Given the description of an element on the screen output the (x, y) to click on. 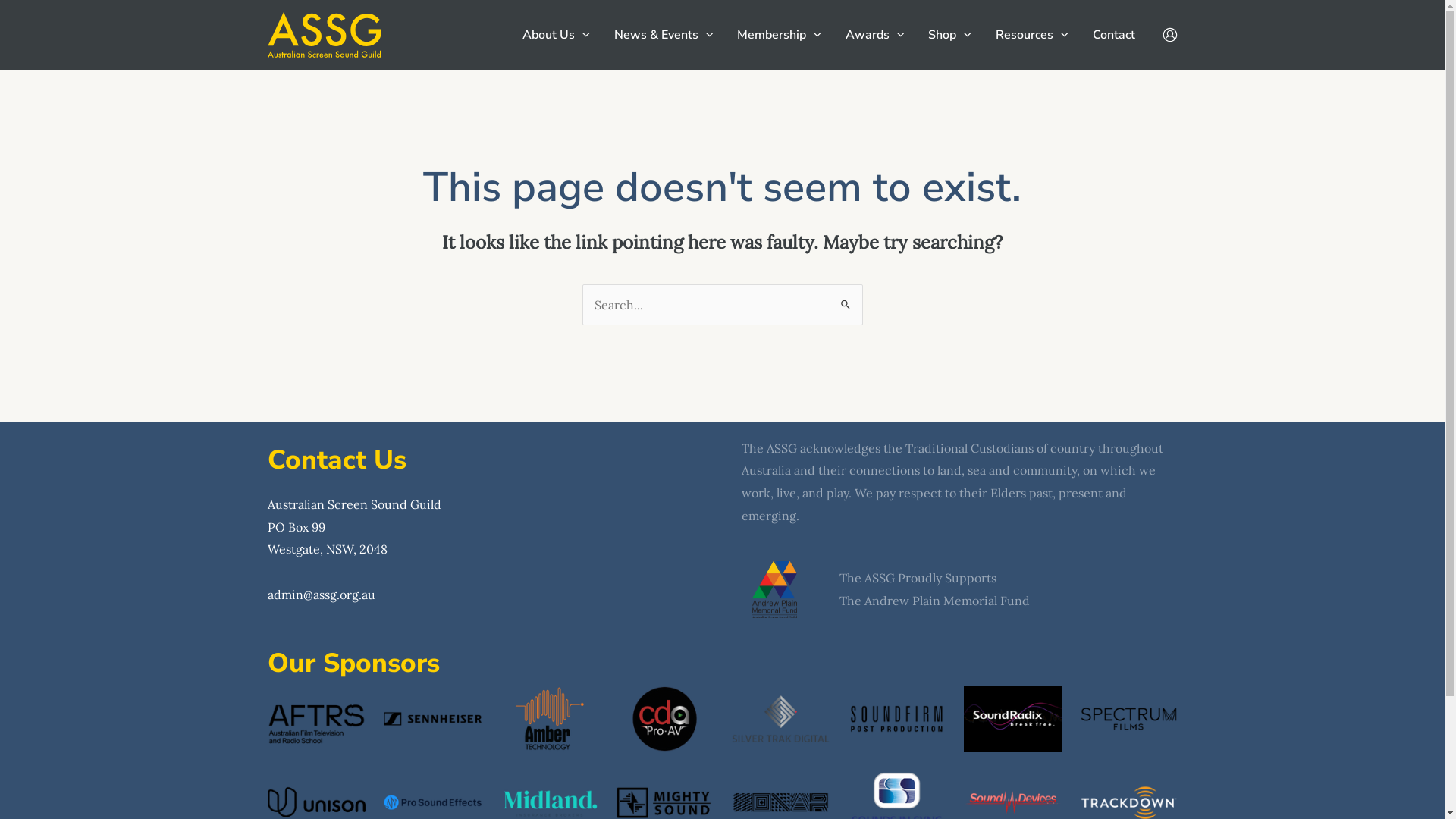
Search Element type: text (845, 298)
Awards Element type: text (874, 34)
Contact Element type: text (1112, 34)
About Us Element type: text (556, 34)
News & Events Element type: text (663, 34)
Resources Element type: text (1031, 34)
Shop Element type: text (949, 34)
Membership Element type: text (778, 34)
